Given the description of an element on the screen output the (x, y) to click on. 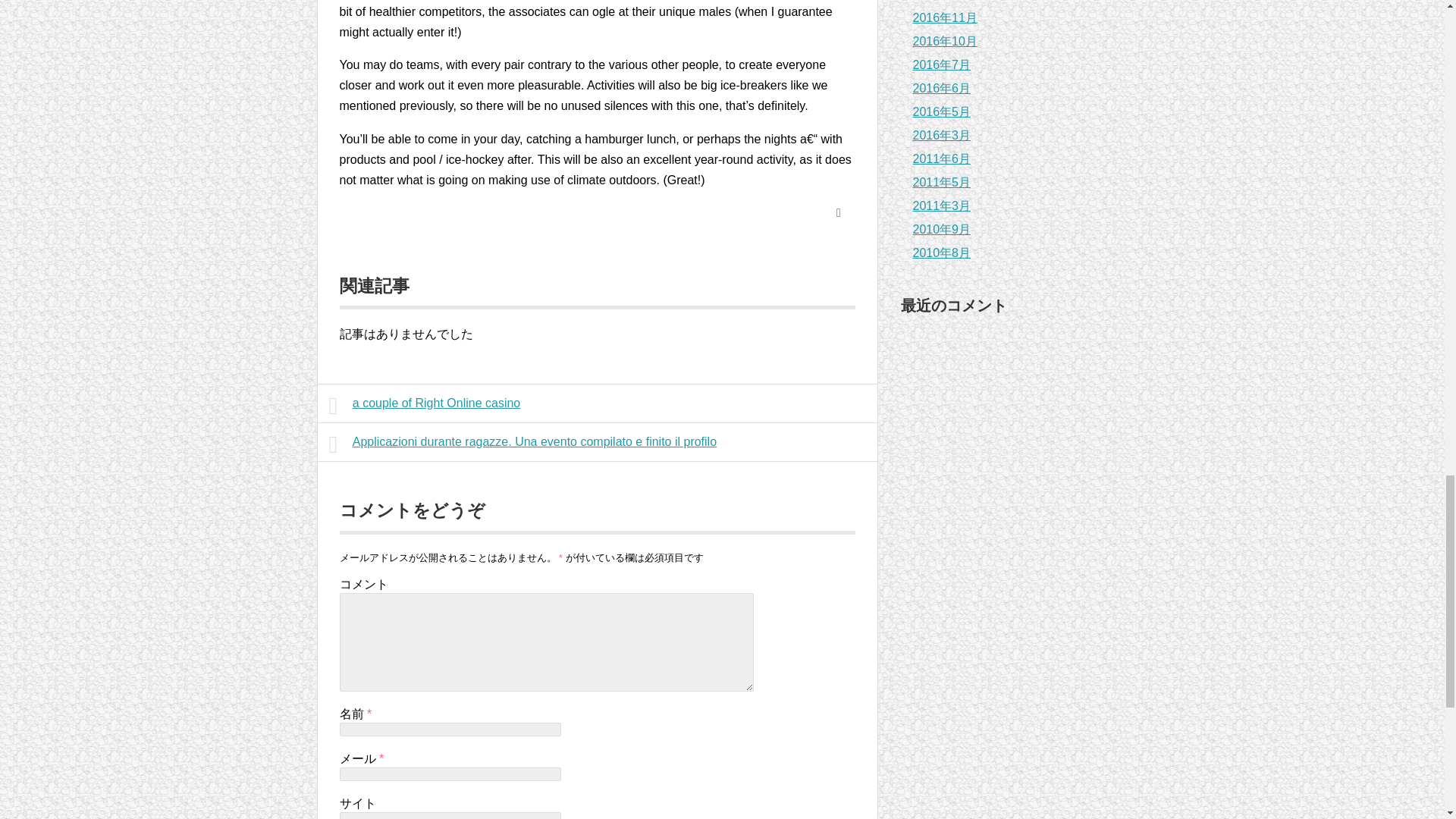
a couple of Right Online casino (597, 403)
